Given the description of an element on the screen output the (x, y) to click on. 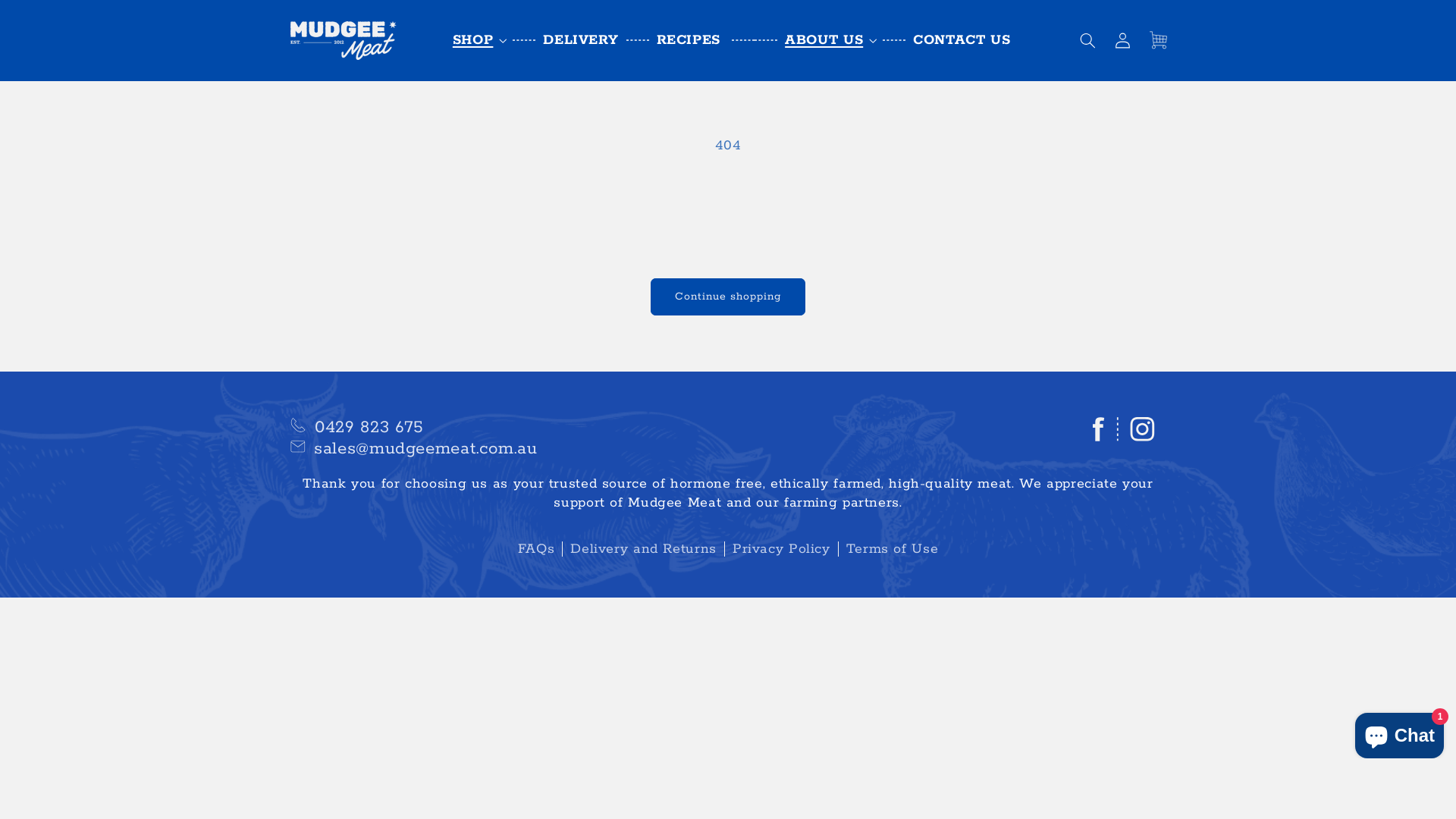
Cart Element type: text (1157, 39)
ABOUT US Element type: text (813, 40)
Delivery and Returns Element type: text (642, 548)
CONTACT US Element type: text (952, 39)
0429 823 675 Element type: text (366, 427)
SHOP Element type: text (472, 40)
Shopify online store chat Element type: hover (1399, 732)
Privacy Policy Element type: text (780, 548)
DELIVERY Element type: text (570, 39)
sales@mudgeemeat.com.au Element type: text (425, 448)
FAQs Element type: text (536, 548)
RECIPES Element type: text (691, 39)
Log in Element type: text (1122, 39)
Terms of Use Element type: text (891, 548)
Continue shopping Element type: text (727, 296)
